Given the description of an element on the screen output the (x, y) to click on. 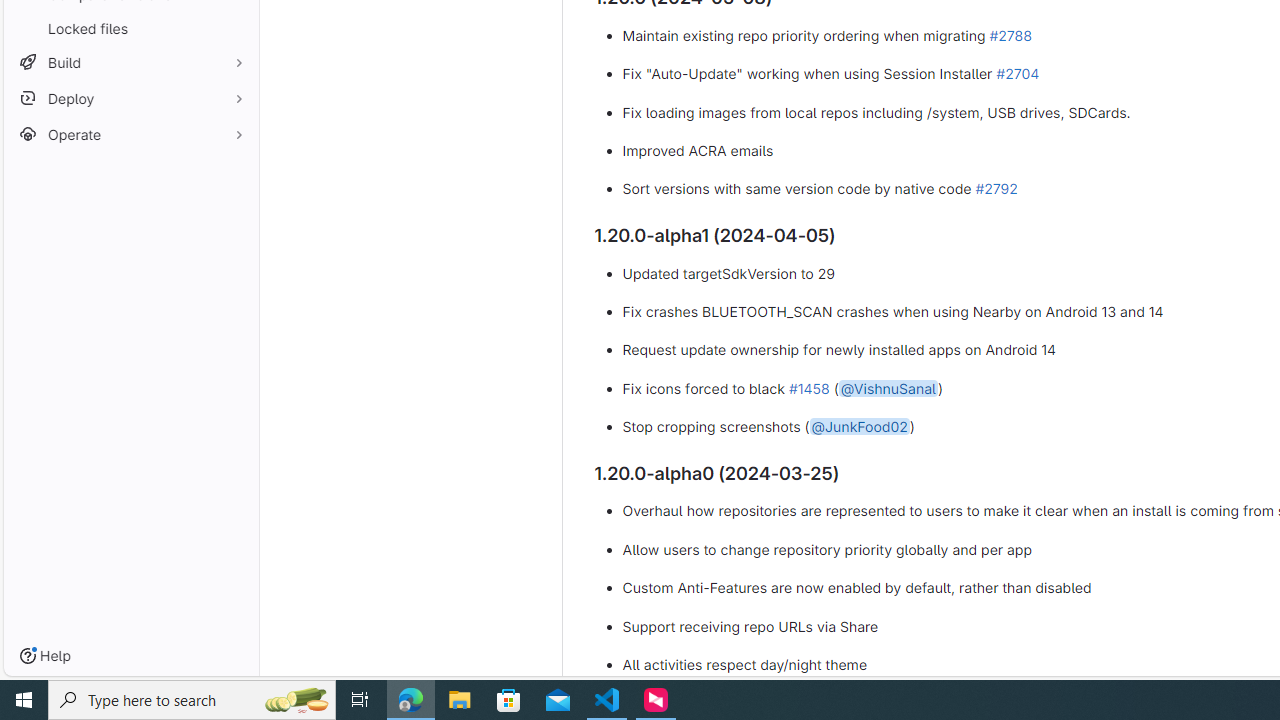
#2788 (1010, 34)
